Given the description of an element on the screen output the (x, y) to click on. 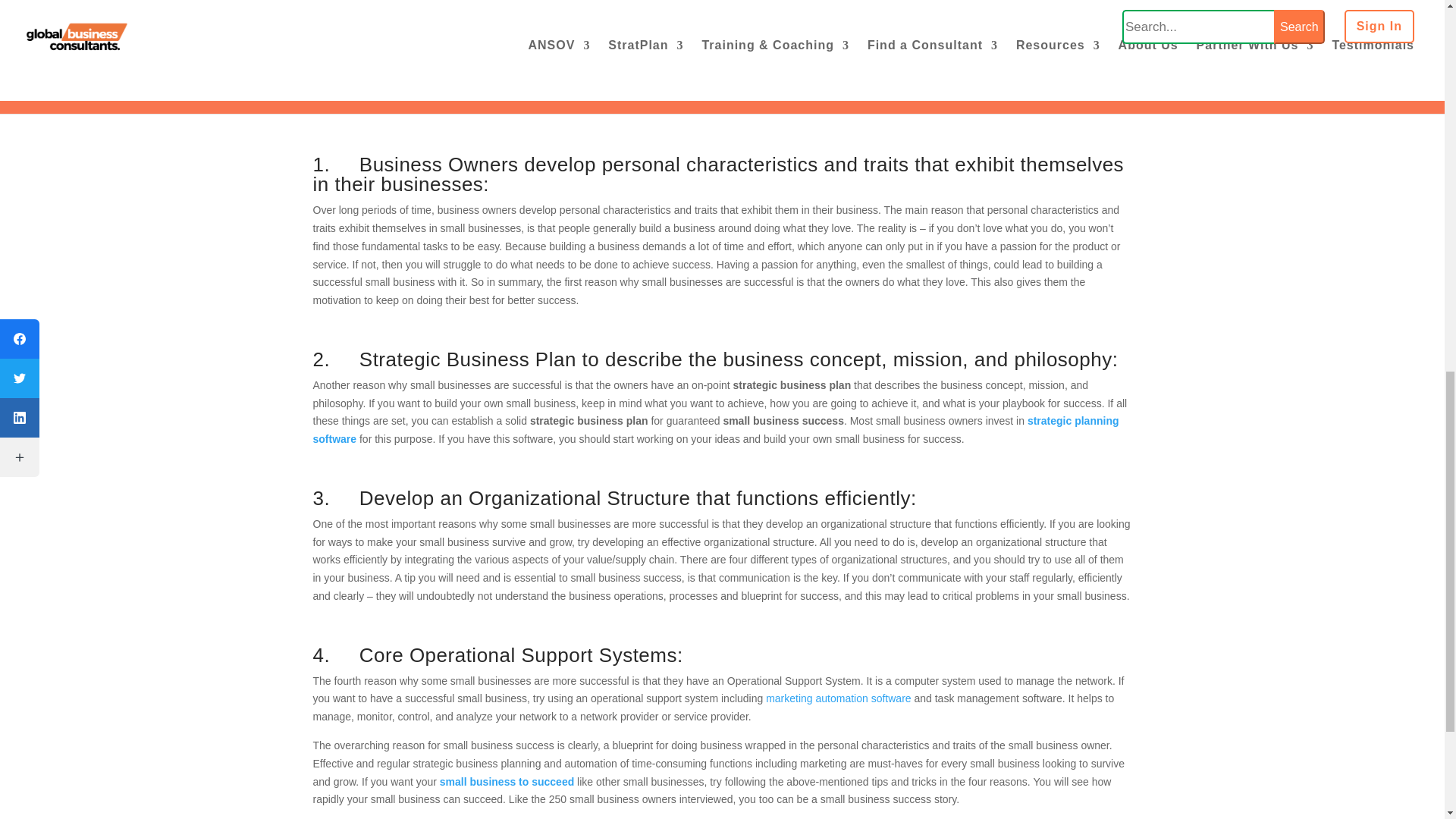
strategic planning software (715, 429)
marketing automation software (838, 698)
small business to succeed (506, 781)
